Given the description of an element on the screen output the (x, y) to click on. 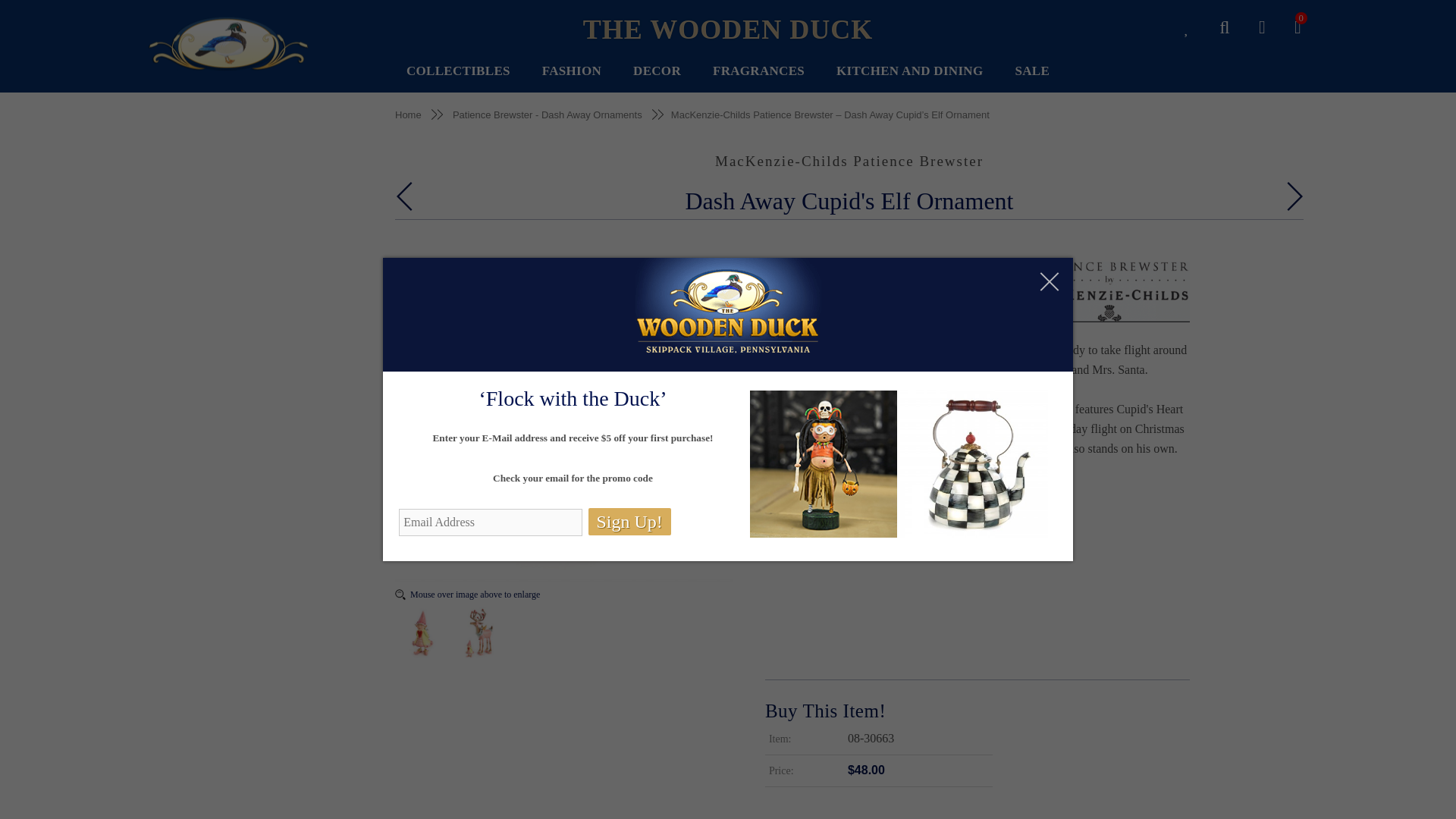
PB MC Logo Square v2 - Wooden Duck Shoppe (1109, 291)
DECOR (657, 71)
KITCHEN AND DINING (908, 71)
Sign Up! (629, 521)
COLLECTIBLES (458, 71)
FASHION (571, 71)
FRAGRANCES (759, 71)
Wooden Duck Shoppe (229, 43)
THE WOODEN DUCK (727, 29)
